Given the description of an element on the screen output the (x, y) to click on. 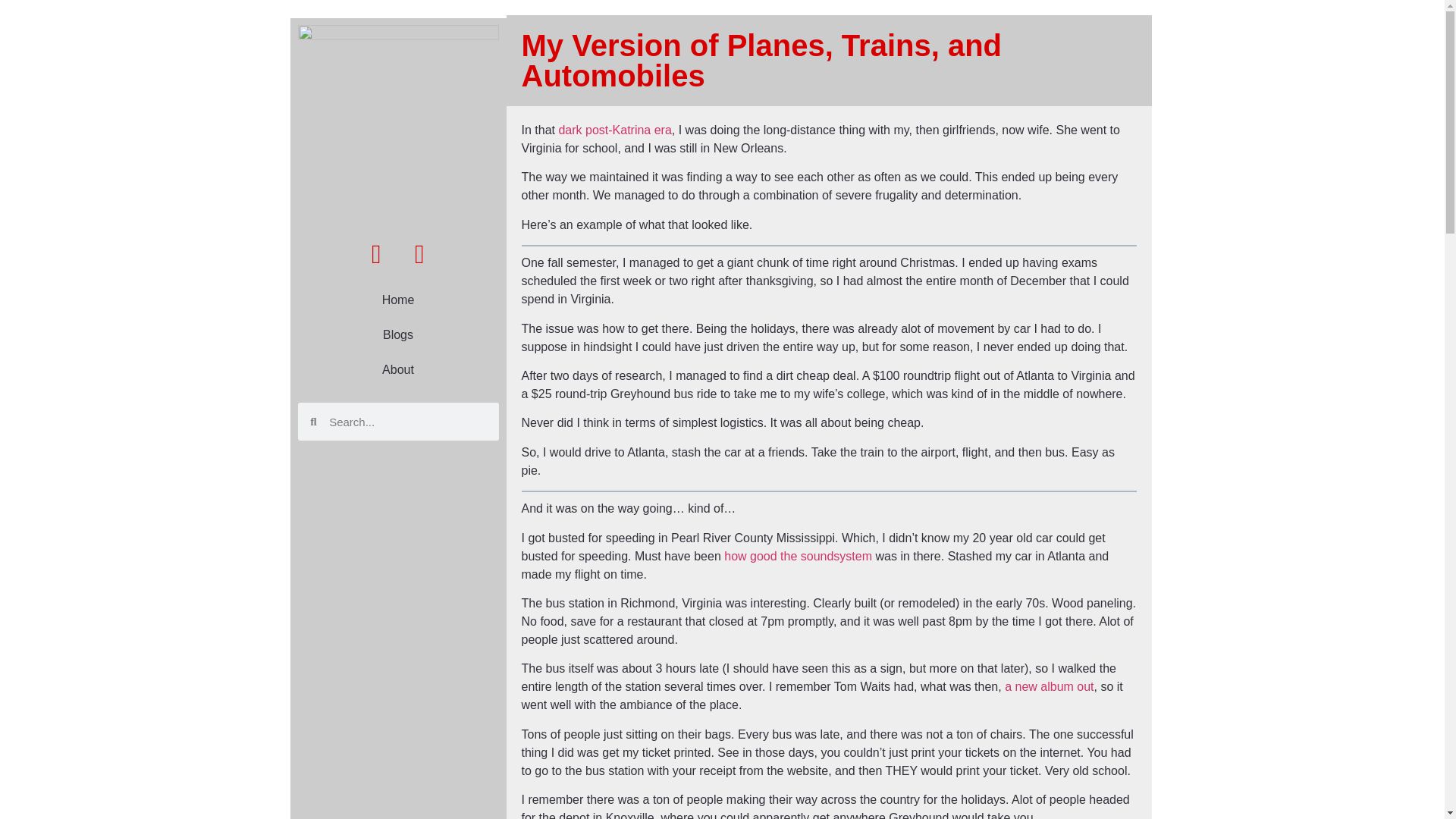
dark post-Katrina era (614, 129)
Blogs (397, 334)
About (397, 369)
Home (397, 299)
a new album out (1048, 686)
how good the soundsystem (797, 555)
